Given the description of an element on the screen output the (x, y) to click on. 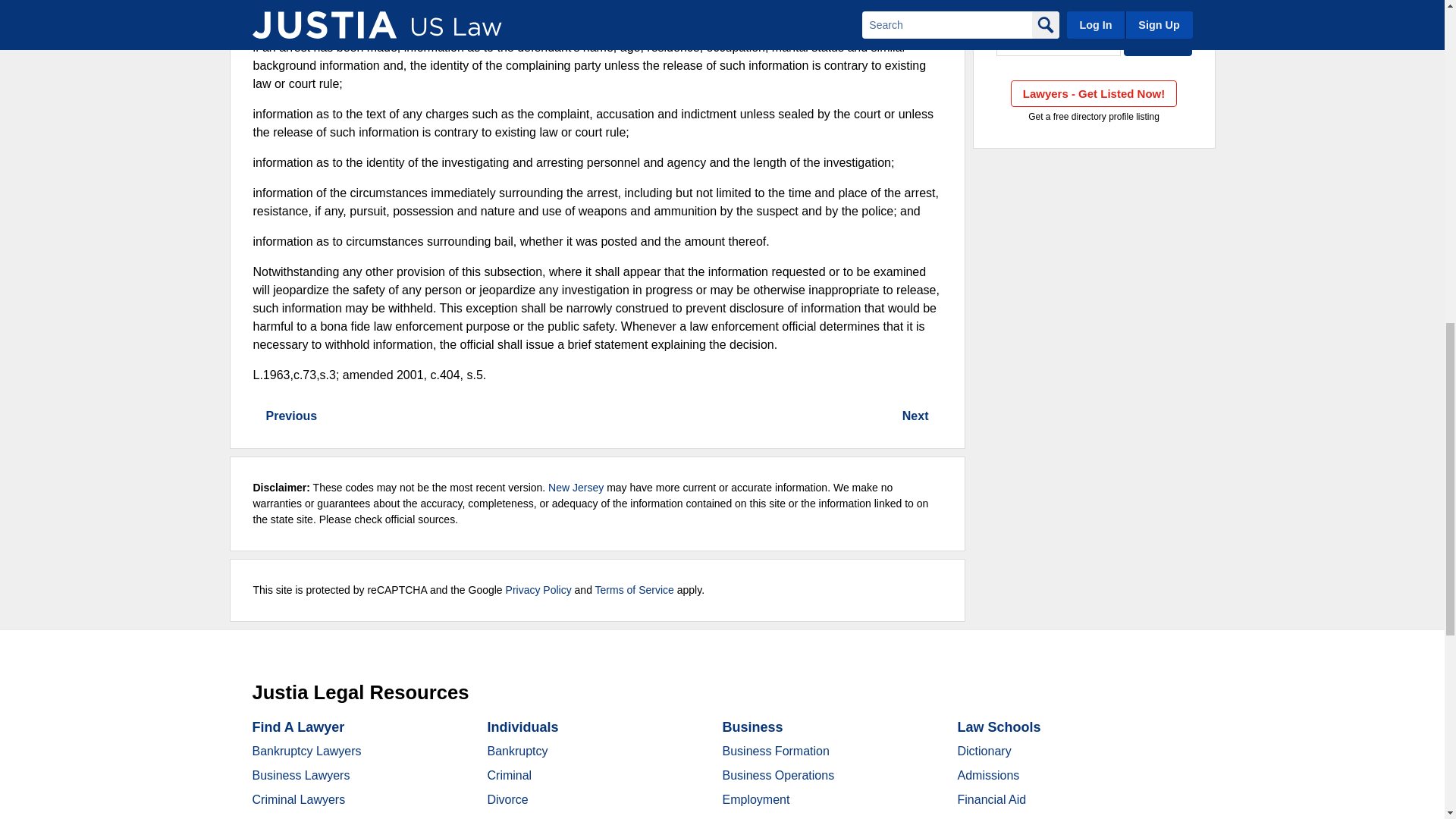
City, State (1058, 41)
New Jersey (1058, 41)
Search (1158, 41)
right (257, 415)
Legal Issue or Lawyer Name (1093, 11)
right (937, 415)
Search (1158, 41)
